Given the description of an element on the screen output the (x, y) to click on. 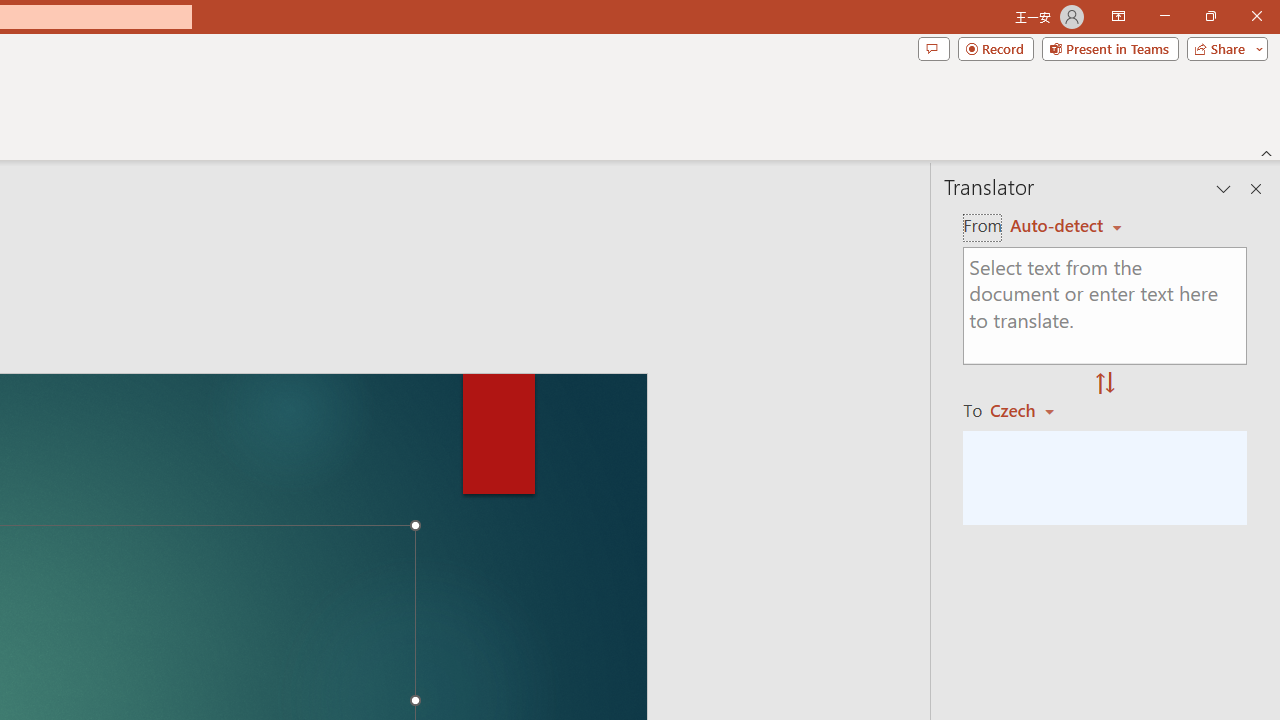
Ribbon Display Options (1118, 16)
Czech (1030, 409)
Restore Down (1210, 16)
Auto-detect (1066, 225)
Swap "from" and "to" languages. (1105, 383)
Comments (933, 48)
Present in Teams (1109, 48)
Minimize (1164, 16)
Task Pane Options (1224, 188)
Share (1223, 48)
